Given the description of an element on the screen output the (x, y) to click on. 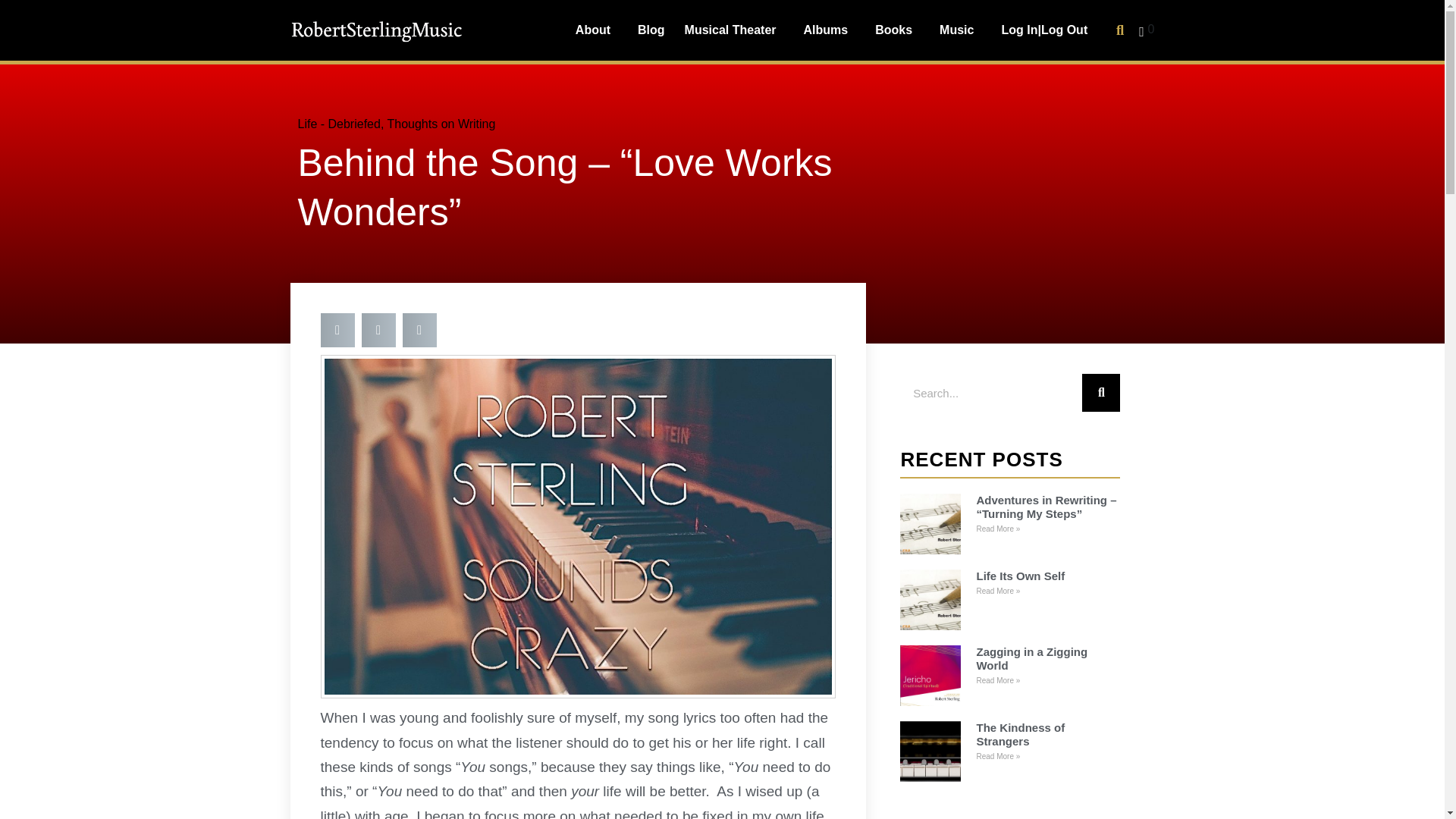
About (596, 30)
Albums (829, 30)
Musical Theater (734, 30)
Music (960, 30)
Books (897, 30)
